Given the description of an element on the screen output the (x, y) to click on. 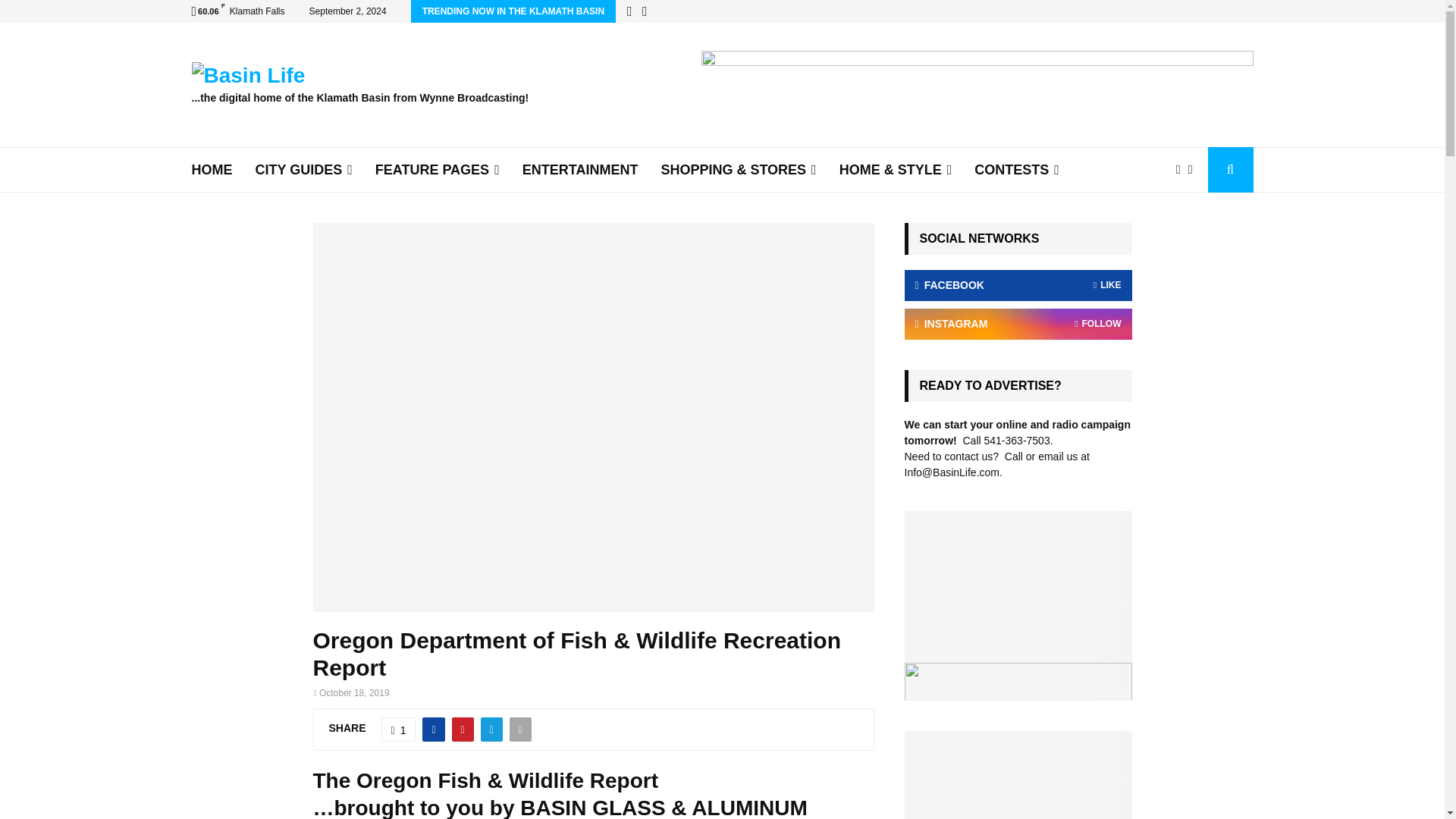
CITY GUIDES (303, 169)
FEATURE PAGES (437, 169)
HOME (210, 169)
Like (398, 729)
